Given the description of an element on the screen output the (x, y) to click on. 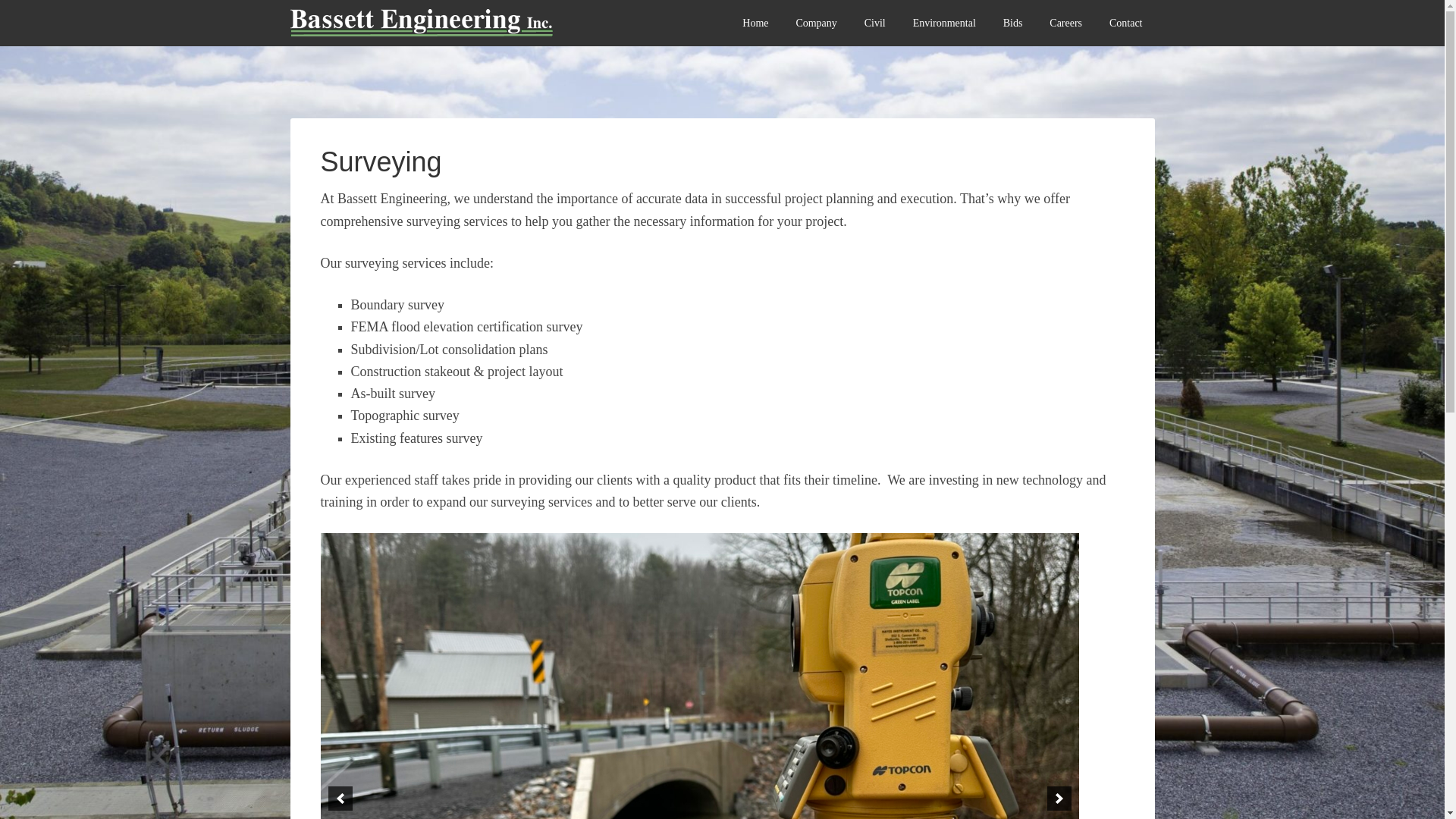
Company (815, 22)
Contact (1125, 22)
BASSETT ENGINEERING (459, 30)
Home (755, 22)
Environmental (944, 22)
Careers (1065, 22)
Bids (1013, 22)
Civil (874, 22)
